Given the description of an element on the screen output the (x, y) to click on. 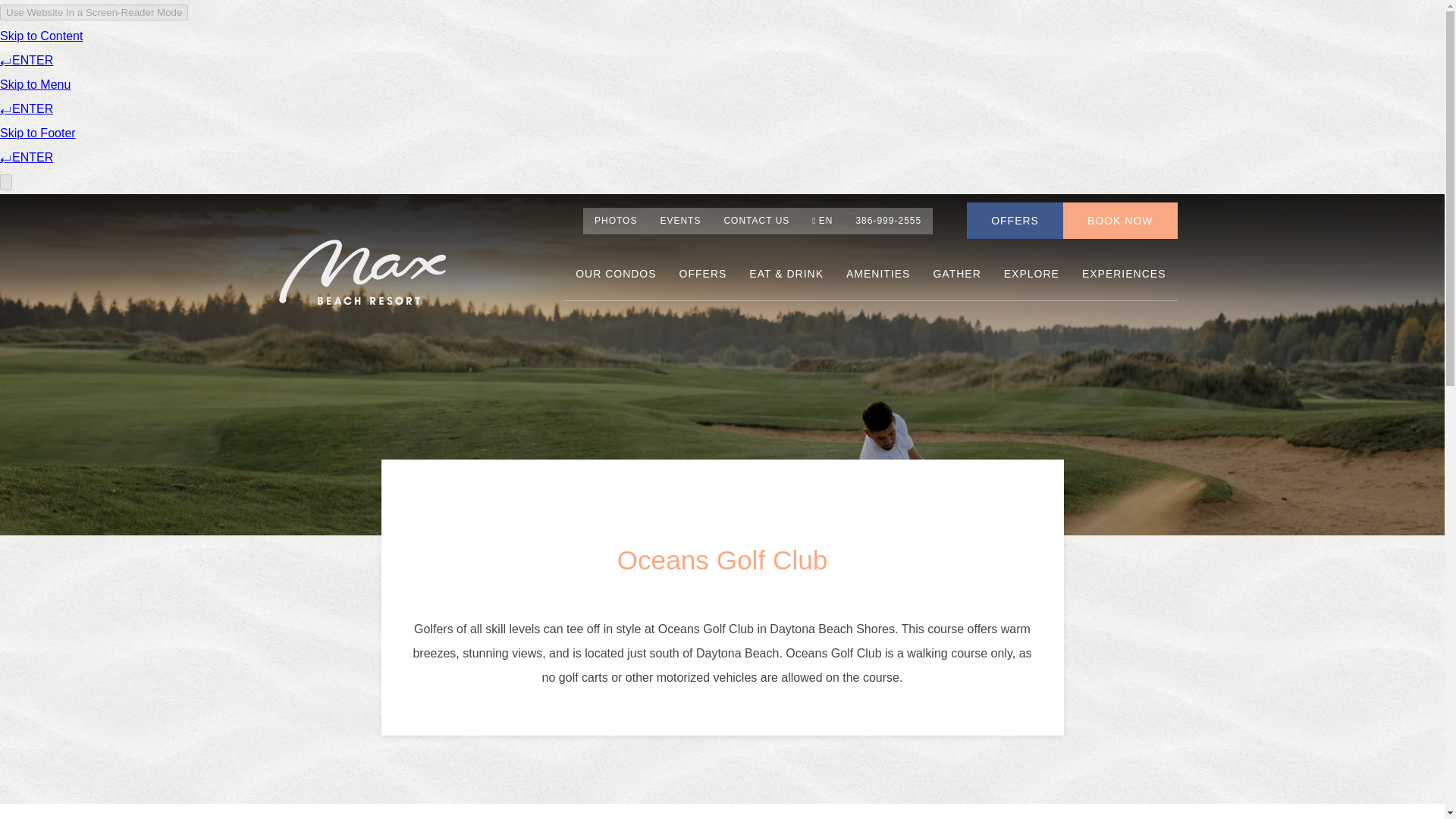
CONTACT US (755, 221)
OFFERS (703, 273)
OUR CONDOS (615, 273)
386-999-2555 (888, 221)
BOOK NOW (1119, 220)
EVENTS (679, 221)
EXPLORE (1031, 273)
PHOTOS (615, 221)
OFFERS (1014, 220)
GATHER (956, 273)
